Given the description of an element on the screen output the (x, y) to click on. 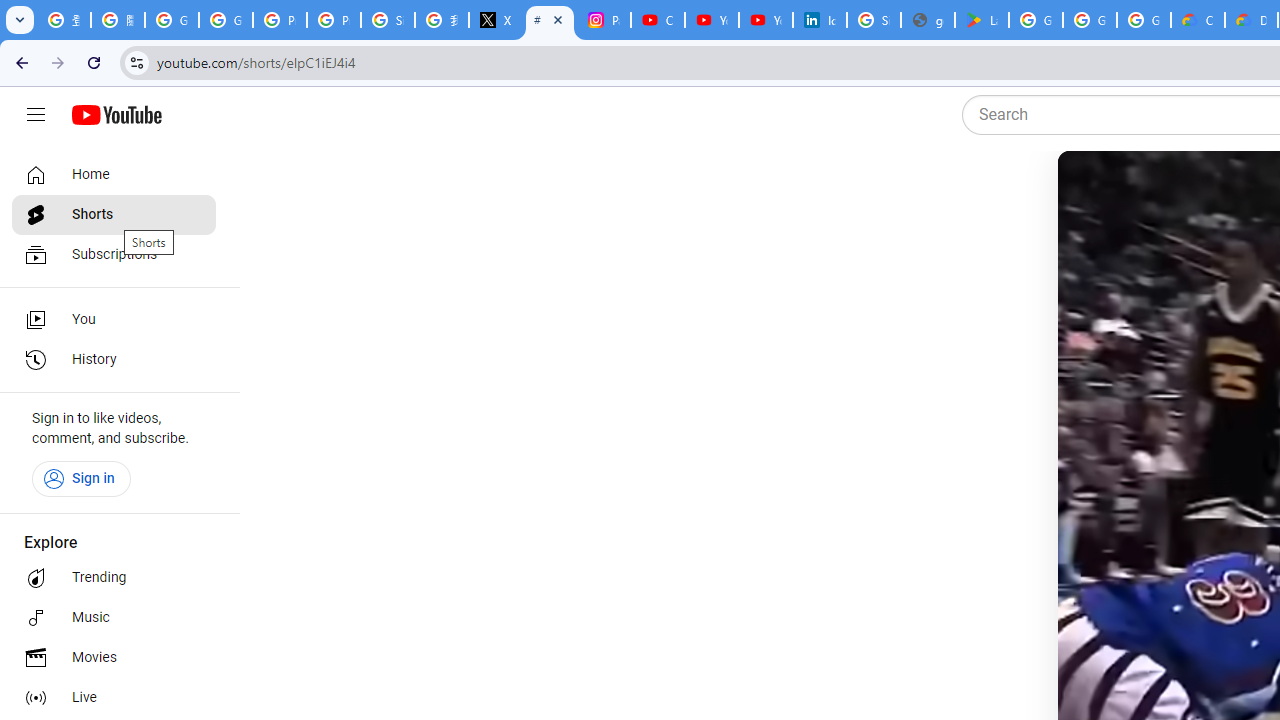
Movies (113, 657)
#nbabasketballhighlights - YouTube - Audio playing (550, 20)
YouTube Home (116, 115)
Music (113, 617)
Customer Care | Google Cloud (1197, 20)
Sign in - Google Accounts (874, 20)
Guide (35, 115)
Last Shelter: Survival - Apps on Google Play (981, 20)
Live (113, 697)
